Given the description of an element on the screen output the (x, y) to click on. 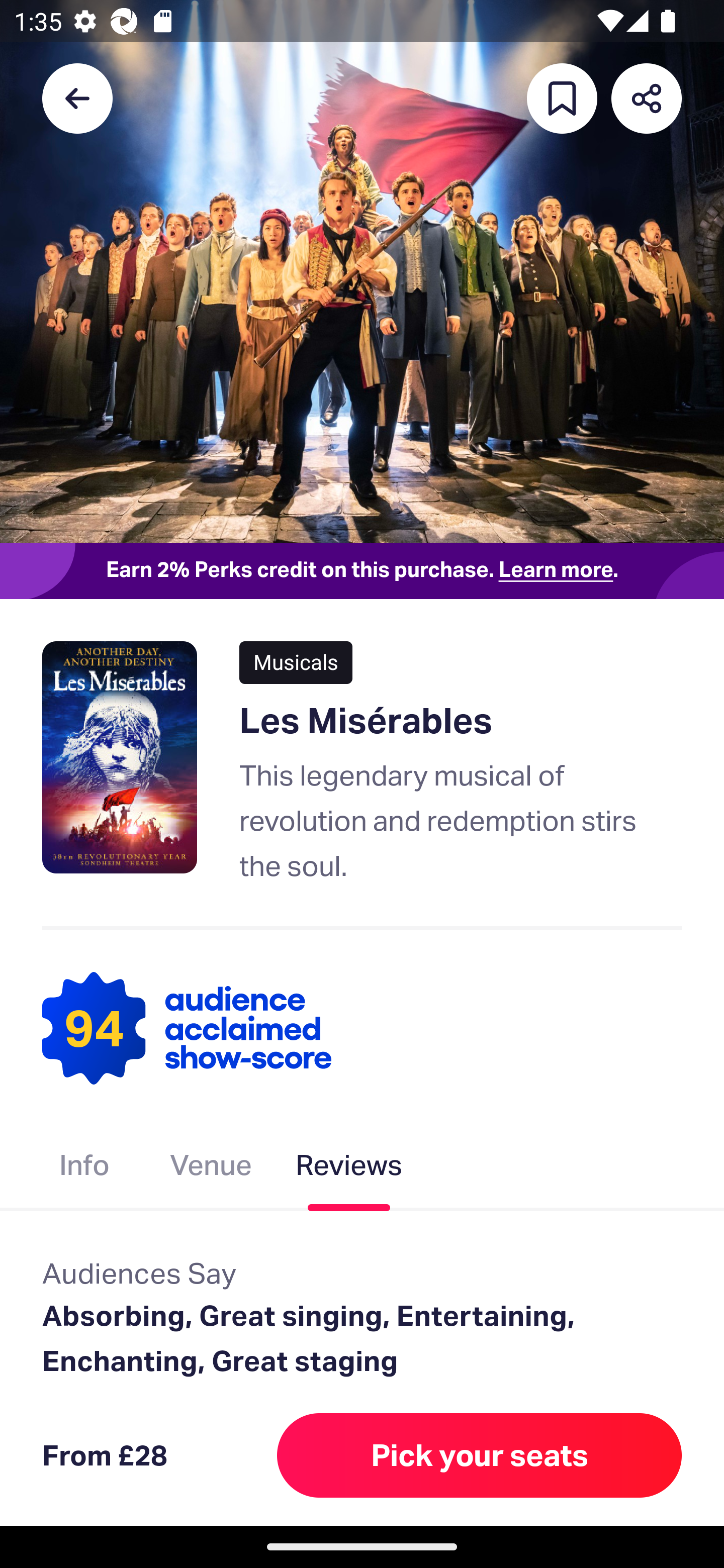
Earn 2% Perks credit on this purchase. Learn more. (362, 570)
Info (83, 1168)
Venue (210, 1168)
Pick your seats (479, 1454)
